Given the description of an element on the screen output the (x, y) to click on. 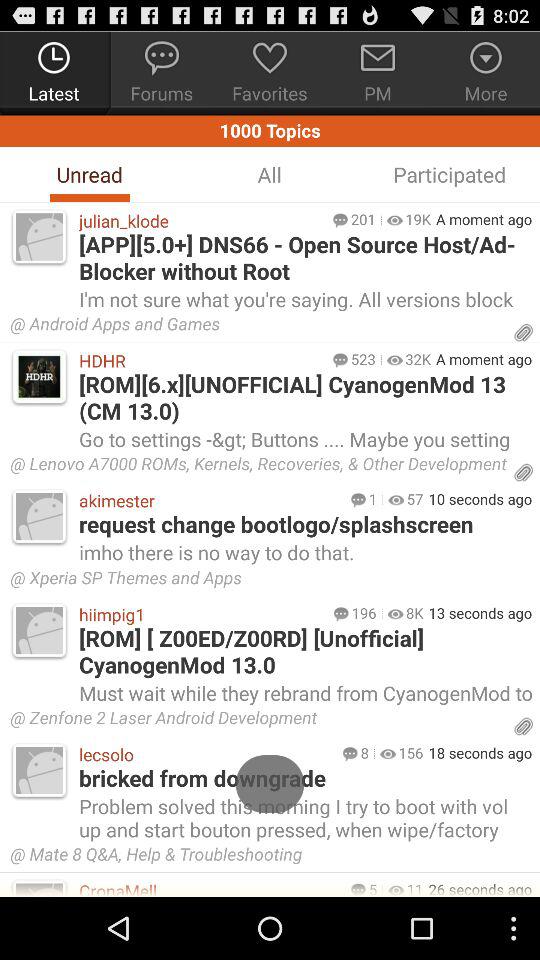
turn on the 32k icon (417, 359)
